Given the description of an element on the screen output the (x, y) to click on. 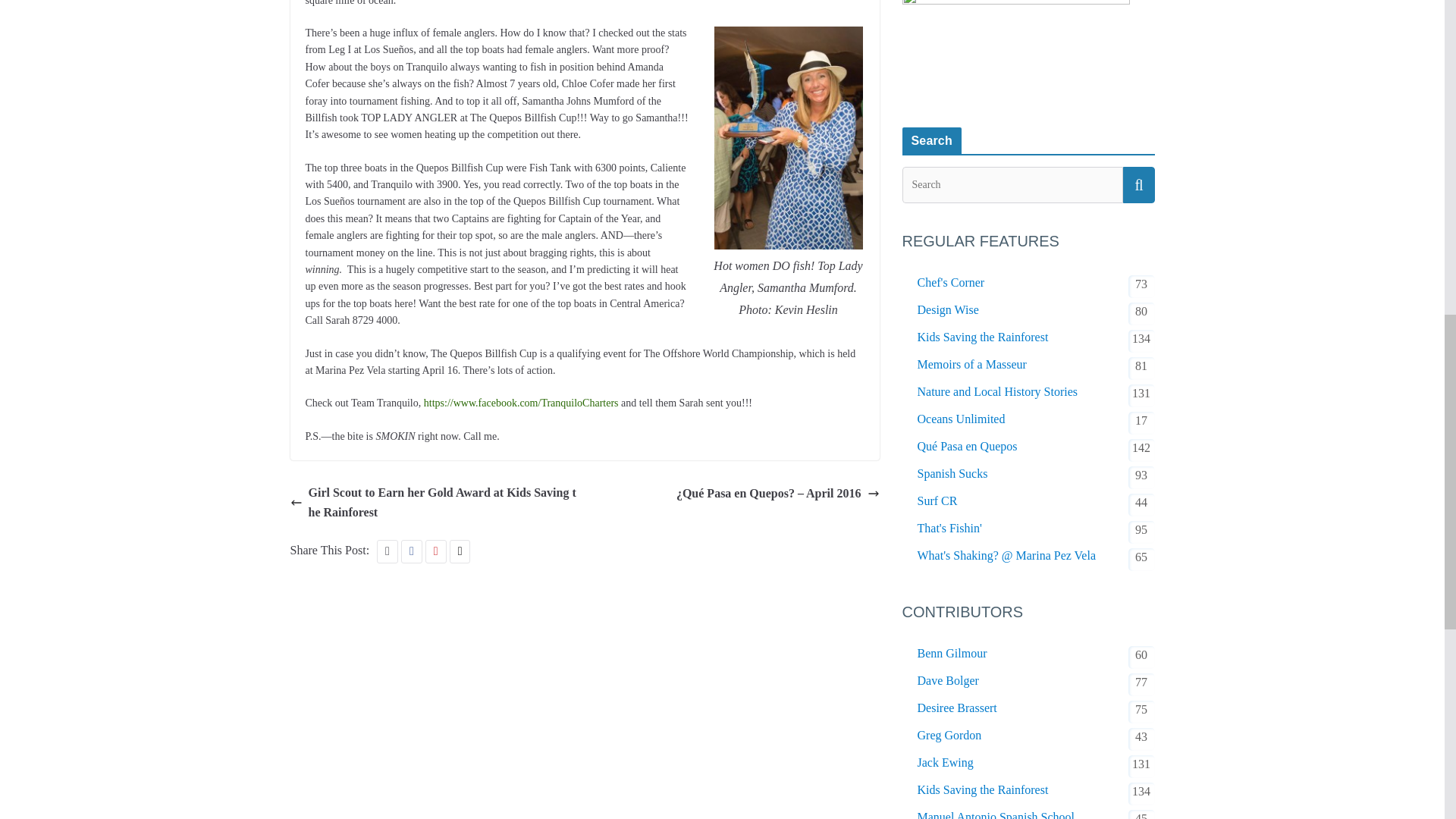
Benn Gilmour (952, 653)
Greg Gordon (949, 735)
Design Wise (947, 310)
Memoirs of a Masseur (971, 364)
Jack Ewing (945, 762)
Manuel Antonio Spanish School (996, 813)
Oceans Unlimited (961, 419)
Kids Saving the Rainforest (982, 790)
Spanish Sucks (952, 474)
Dave Bolger (947, 680)
